Given the description of an element on the screen output the (x, y) to click on. 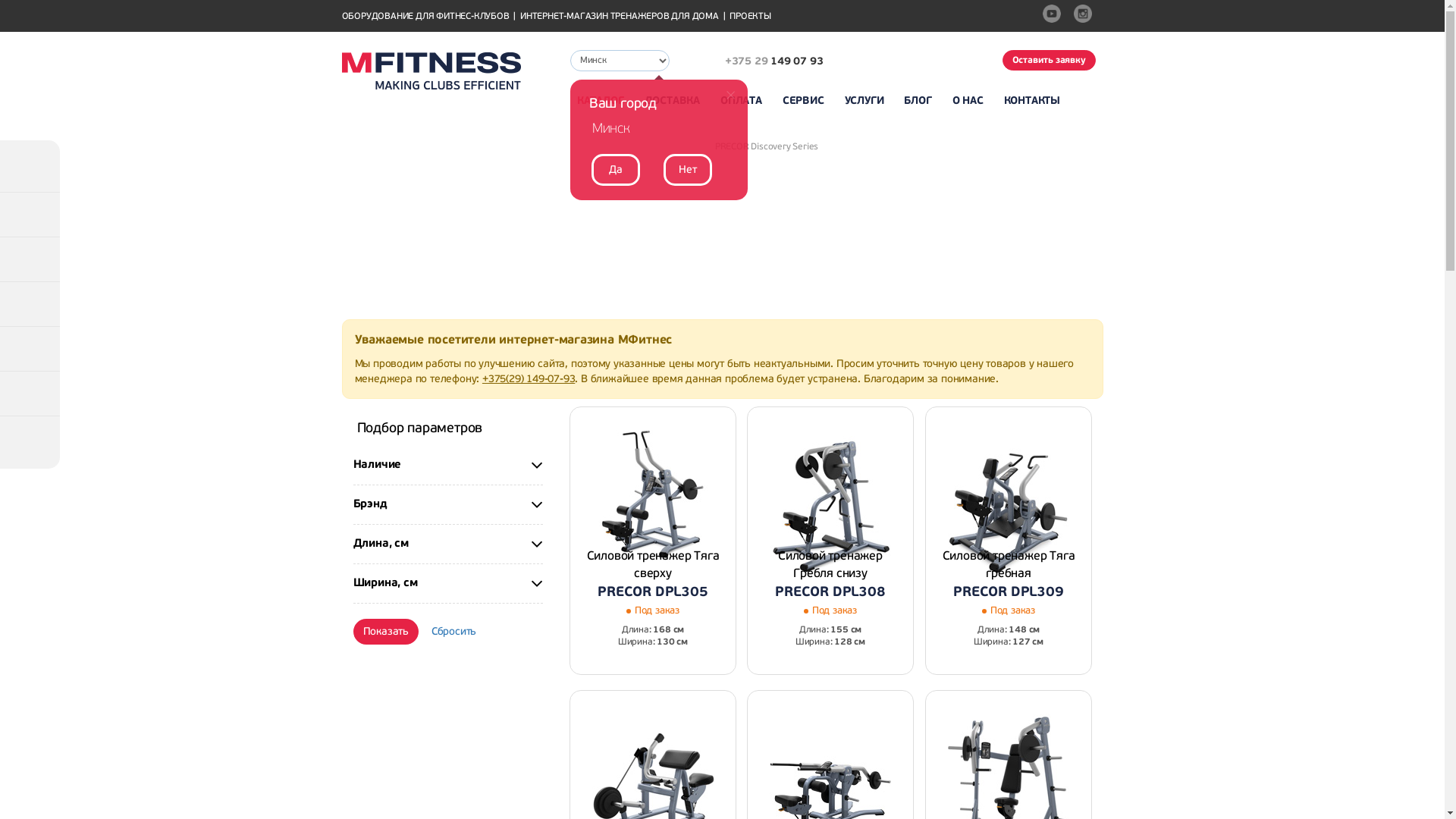
+375 29 149 07 93 Element type: text (759, 61)
+375(29) 149-07-93 Element type: text (528, 378)
Instagram Element type: hover (1084, 15)
Youtube Element type: hover (1052, 15)
